Given the description of an element on the screen output the (x, y) to click on. 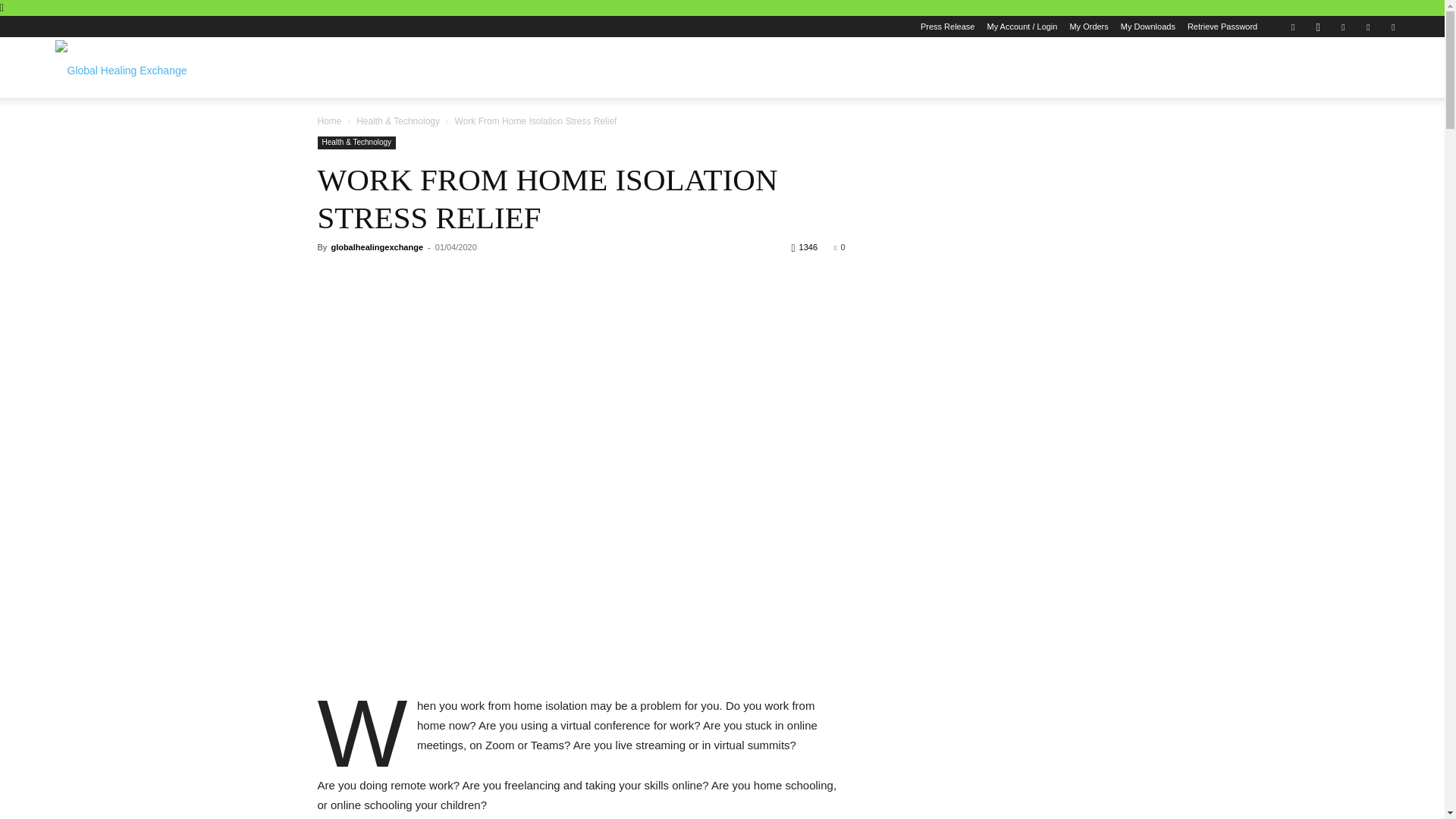
Youtube (1393, 25)
Facebook (1292, 25)
Pinterest (1343, 25)
A Holistic Approach To Health And Wellbeing (120, 67)
Twitter (1367, 25)
Instagram (1317, 25)
